Given the description of an element on the screen output the (x, y) to click on. 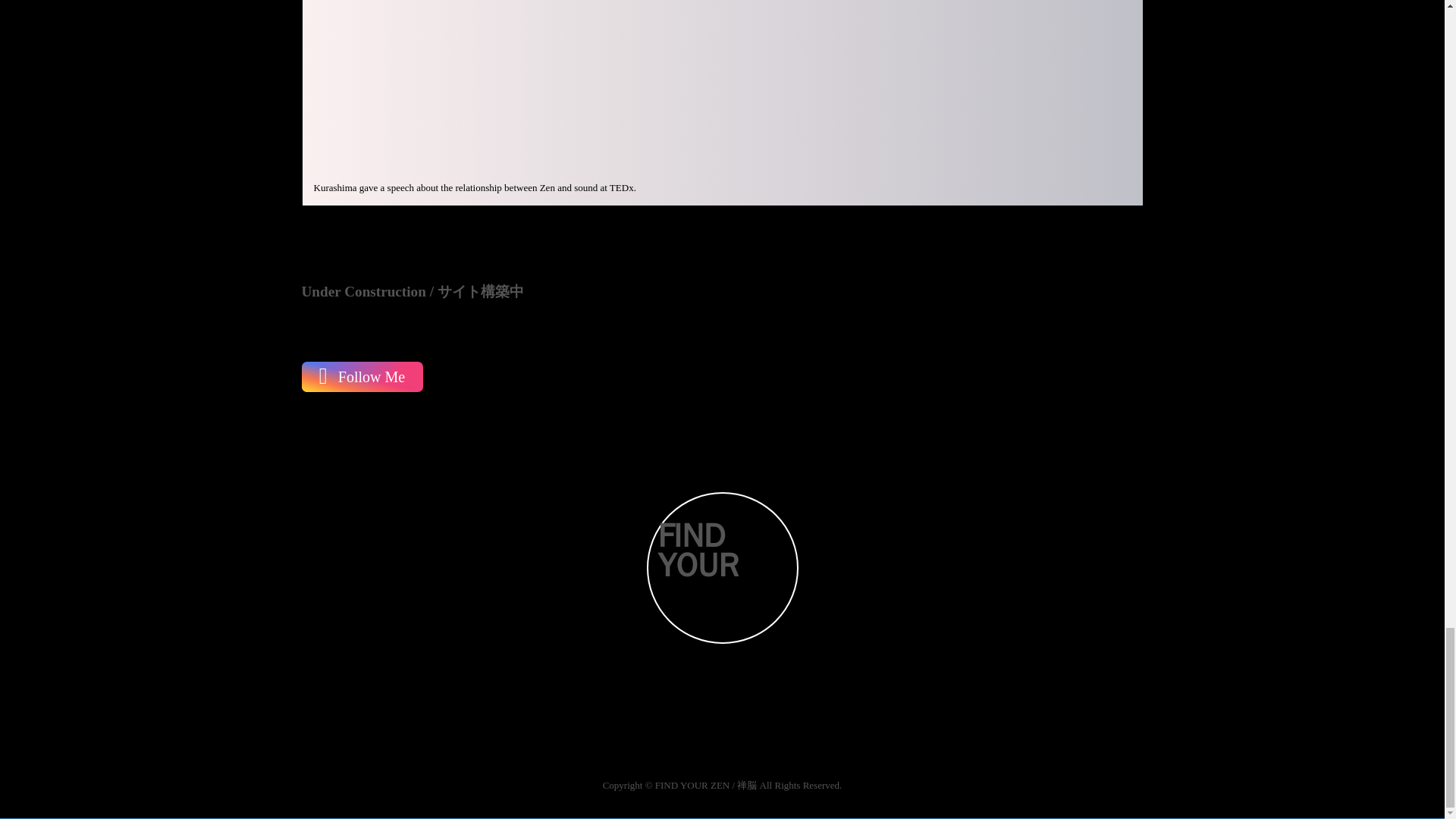
Follow Me (362, 376)
